Given the description of an element on the screen output the (x, y) to click on. 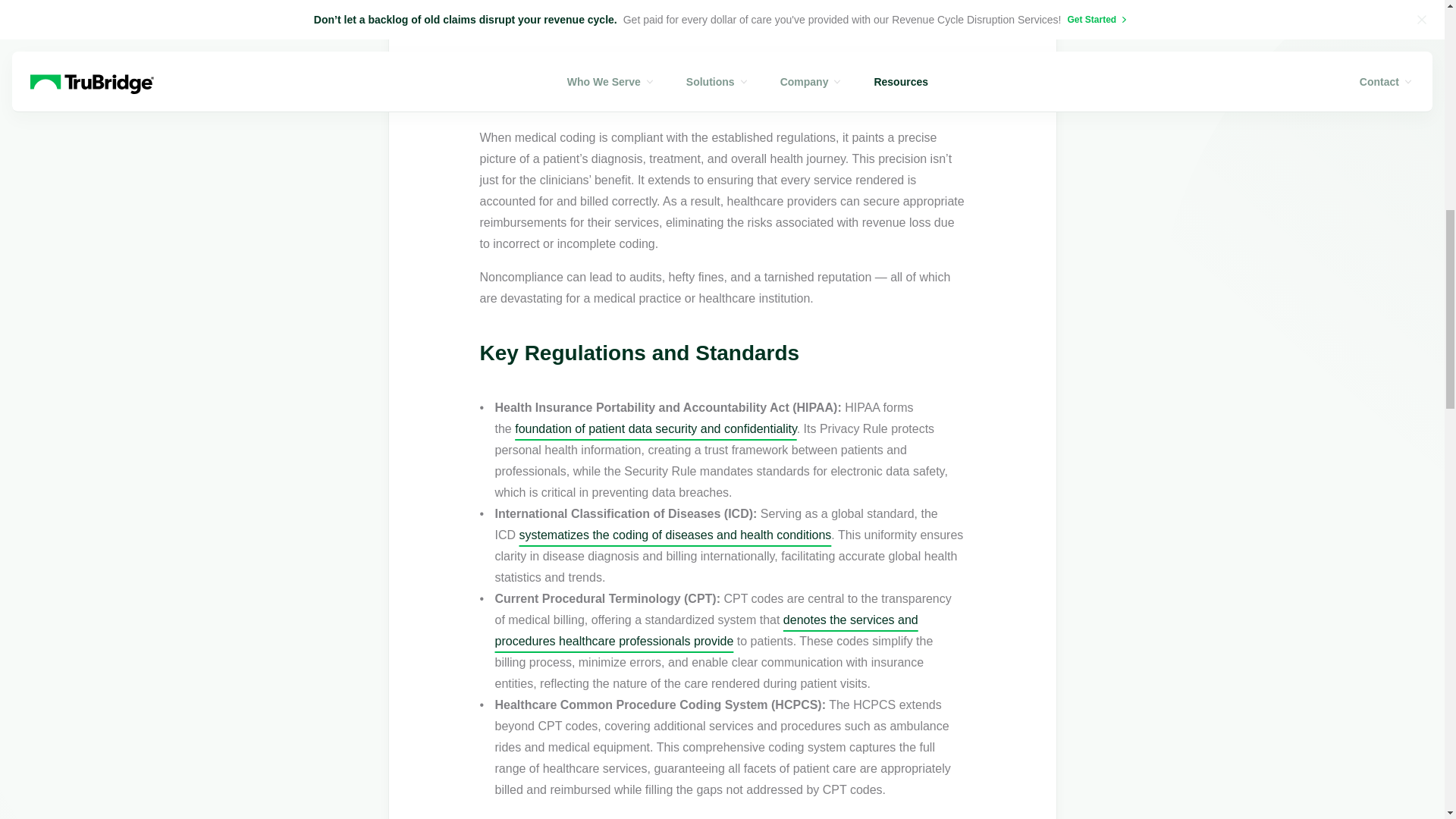
systematizes the coding of diseases and health conditions (674, 534)
foundation of patient data security and confidentiality (655, 428)
